Given the description of an element on the screen output the (x, y) to click on. 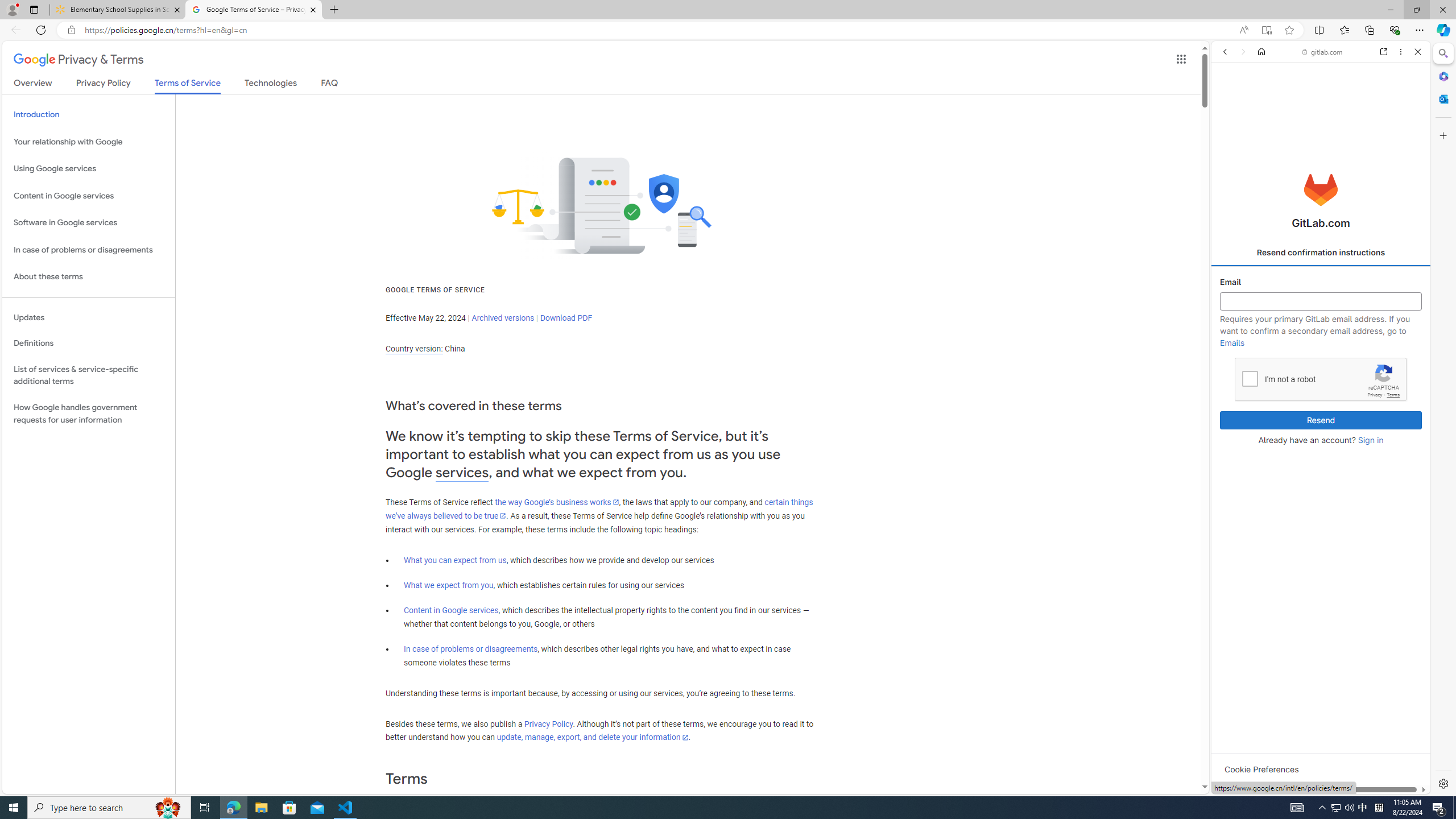
Software in Google services (88, 222)
How Google handles government requests for user information (88, 413)
Privacy Policy (548, 723)
Introduction (88, 114)
Content in Google services (88, 195)
Dashboard (1320, 365)
Email (1321, 301)
Confirmation Page (1320, 392)
Login (1320, 281)
